Given the description of an element on the screen output the (x, y) to click on. 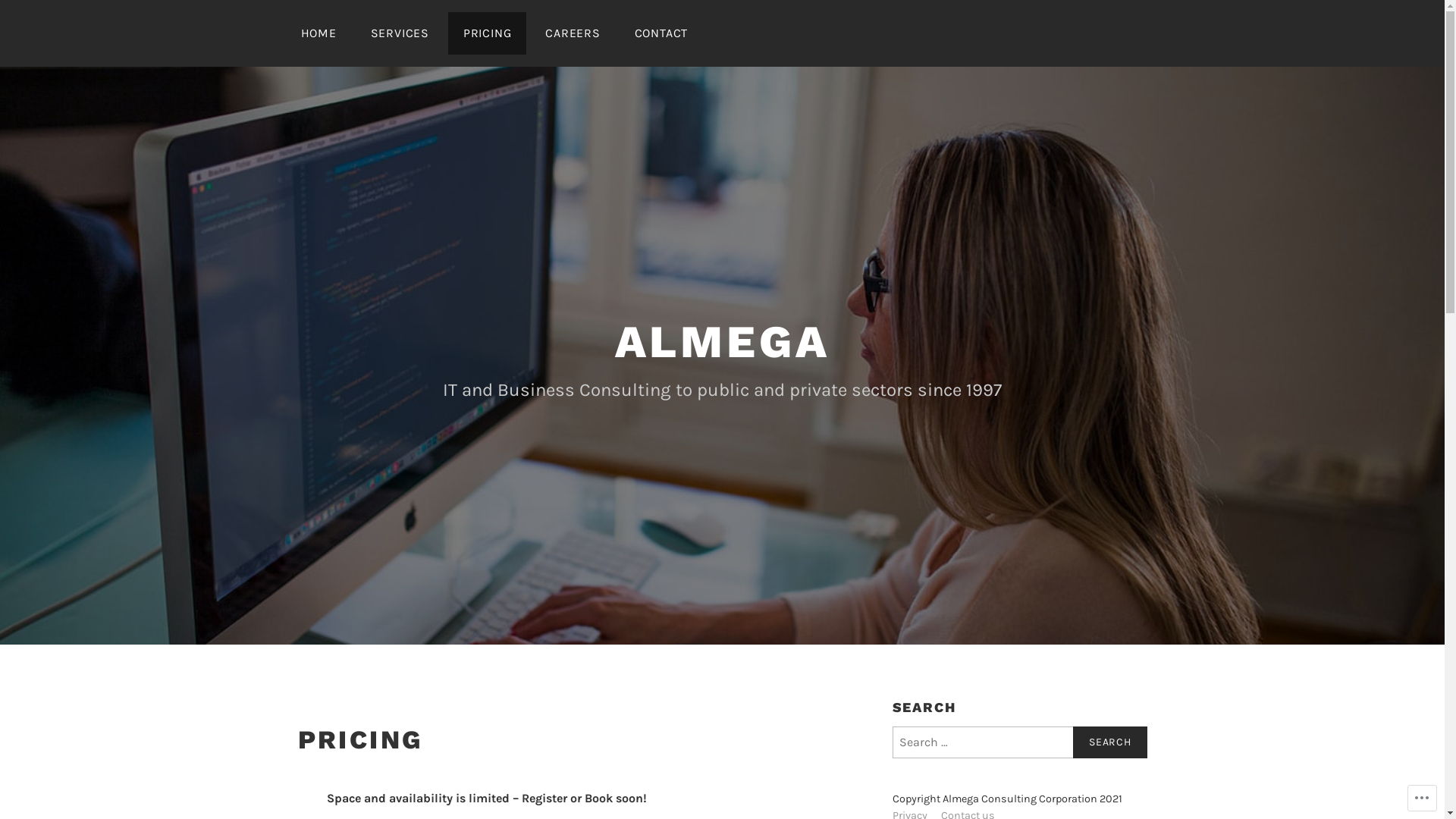
SERVICES Element type: text (399, 33)
Search Element type: text (1109, 742)
ALMEGA Element type: text (722, 341)
CONTACT Element type: text (661, 33)
CAREERS Element type: text (572, 33)
HOME Element type: text (318, 33)
PRICING Element type: text (487, 33)
